Given the description of an element on the screen output the (x, y) to click on. 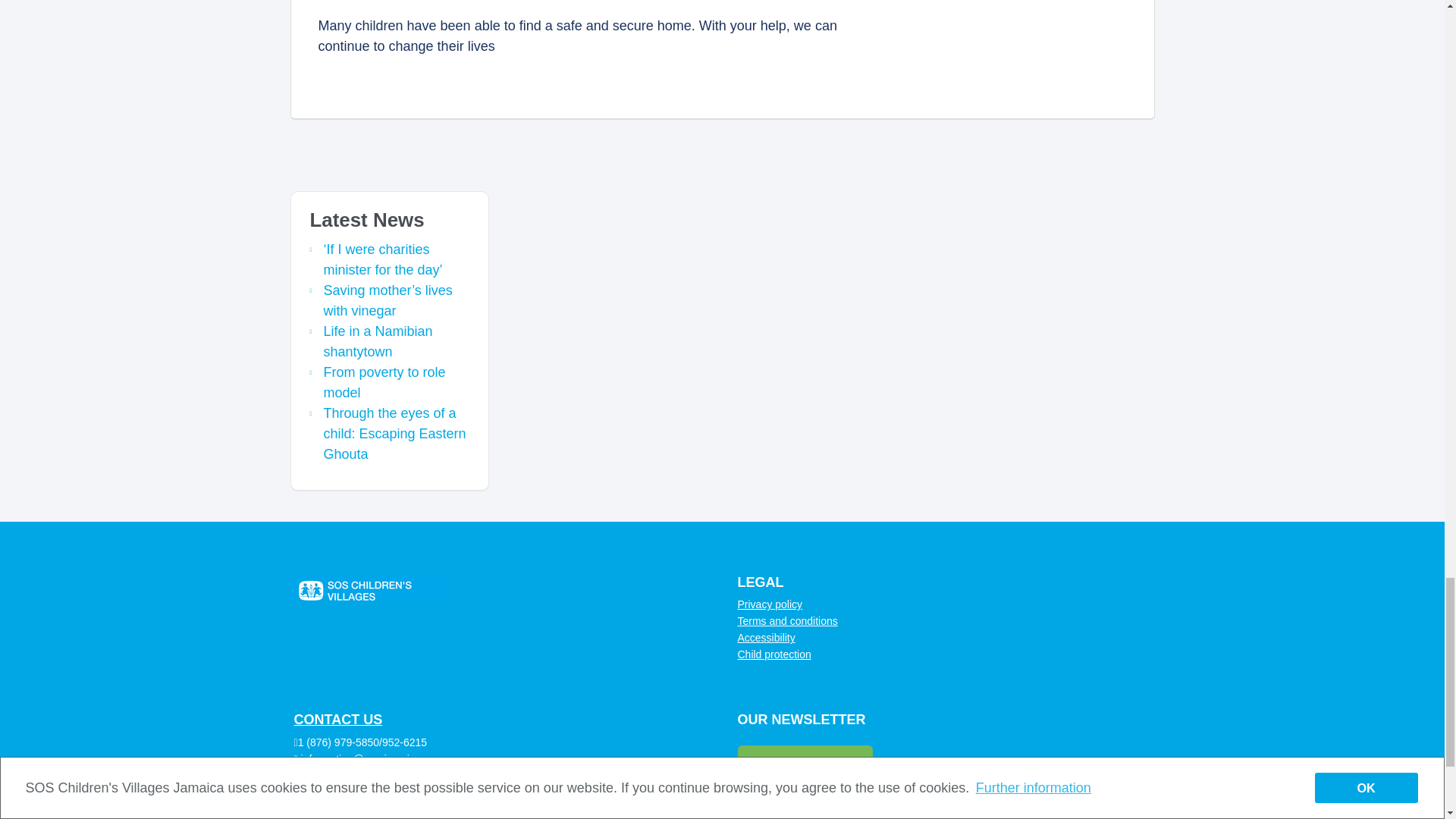
Accessibility (765, 637)
Child protection (773, 654)
Through the eyes of a child: Escaping Eastern Ghouta (394, 433)
Terms and conditions (786, 621)
SIGN UP NOW (804, 766)
From poverty to role model (384, 382)
Privacy policy (769, 604)
Life in a Namibian shantytown (377, 341)
CONTACT US (338, 719)
